Given the description of an element on the screen output the (x, y) to click on. 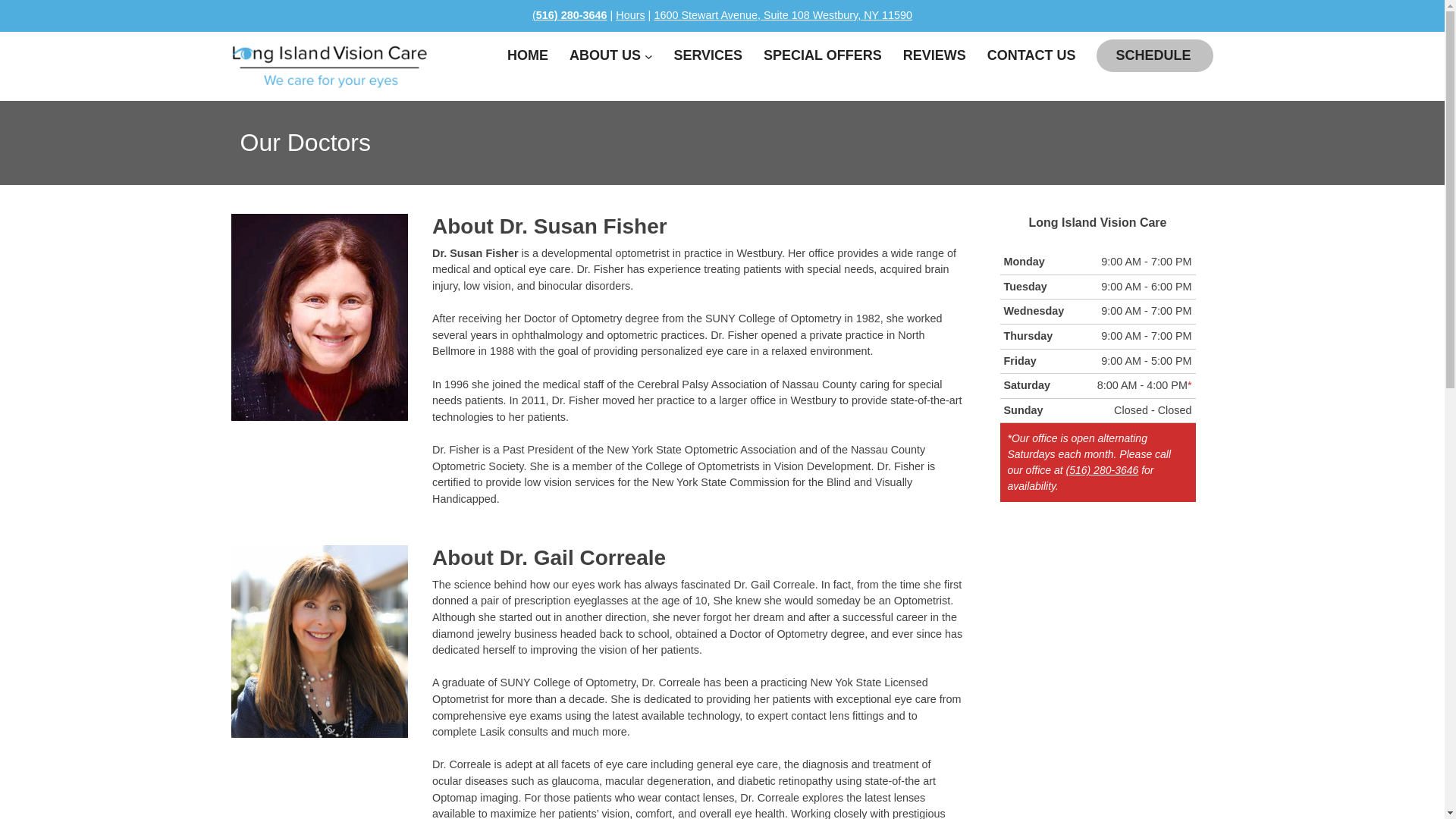
SERVICES (700, 55)
HOME (520, 55)
CONTACT US (1023, 55)
Hours (630, 15)
ABOUT US (597, 55)
SPECIAL OFFERS (815, 55)
1600 Stewart Avenue, Suite 108 Westbury, NY 11590 (782, 15)
SCHEDULE (1145, 55)
REVIEWS (927, 55)
